Given the description of an element on the screen output the (x, y) to click on. 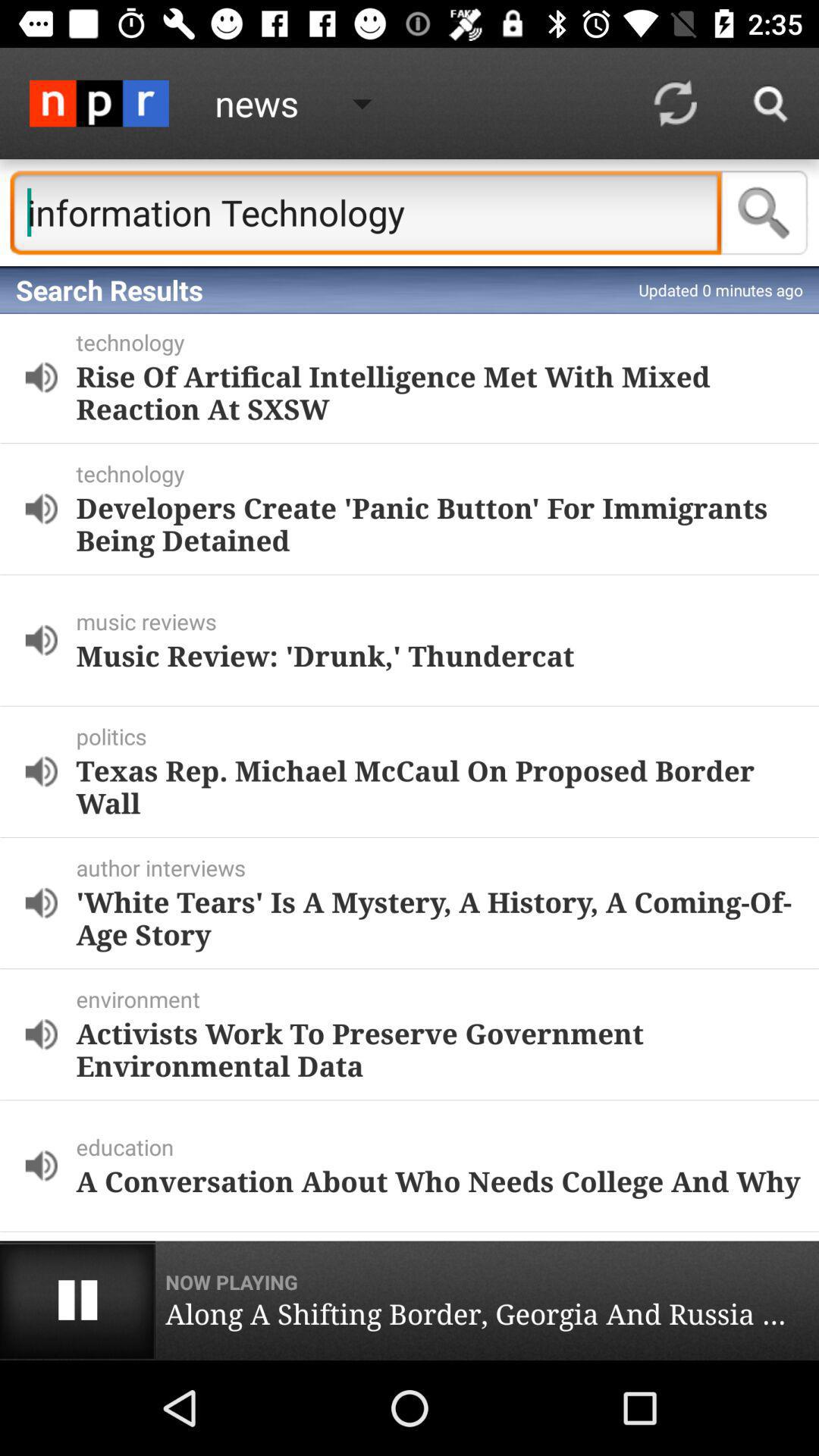
select music reviews (444, 621)
